Given the description of an element on the screen output the (x, y) to click on. 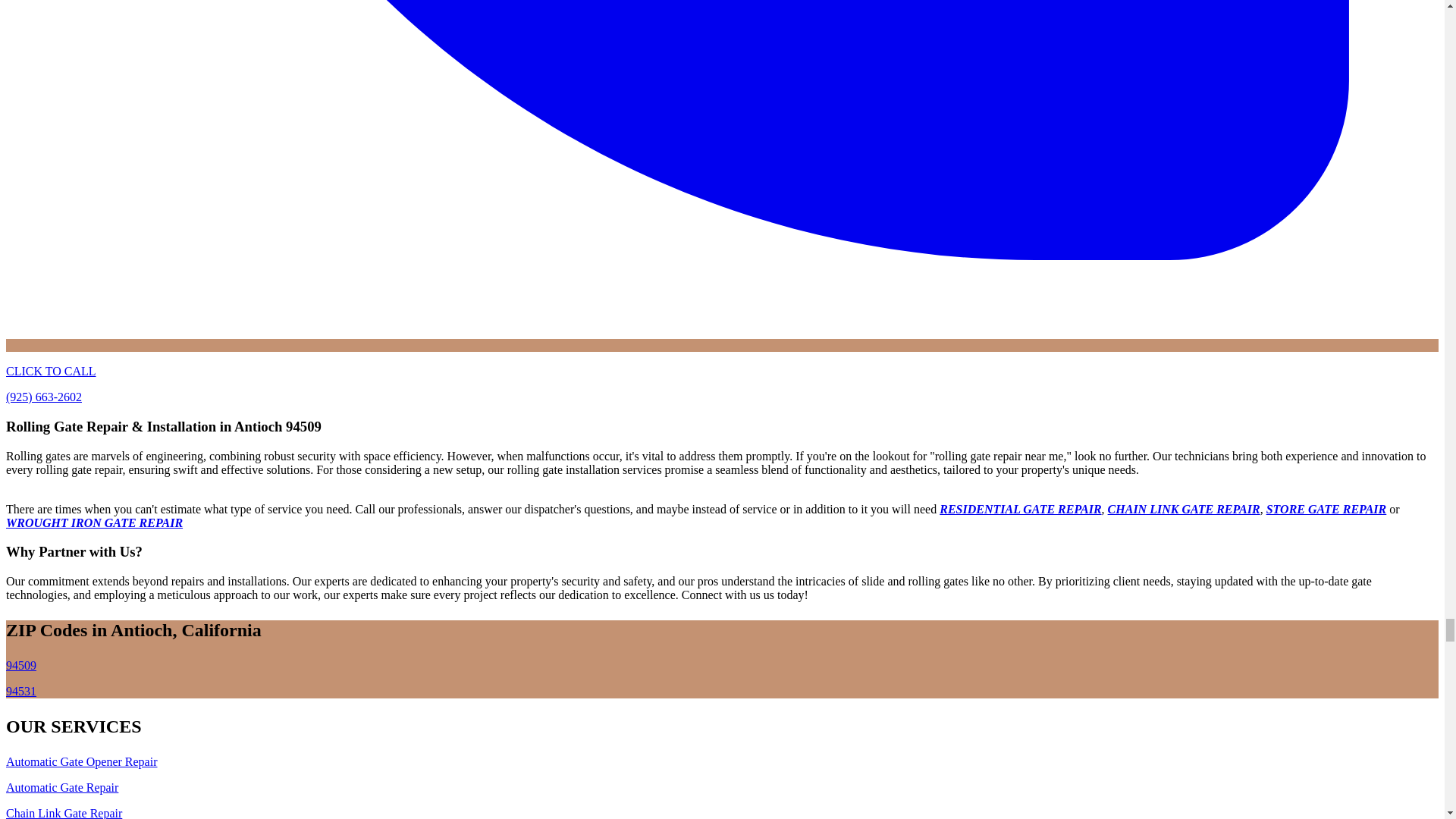
STORE GATE REPAIR (1326, 508)
RESIDENTIAL GATE REPAIR (1019, 508)
CHAIN LINK GATE REPAIR (1184, 508)
WROUGHT IRON GATE REPAIR (94, 522)
